Given the description of an element on the screen output the (x, y) to click on. 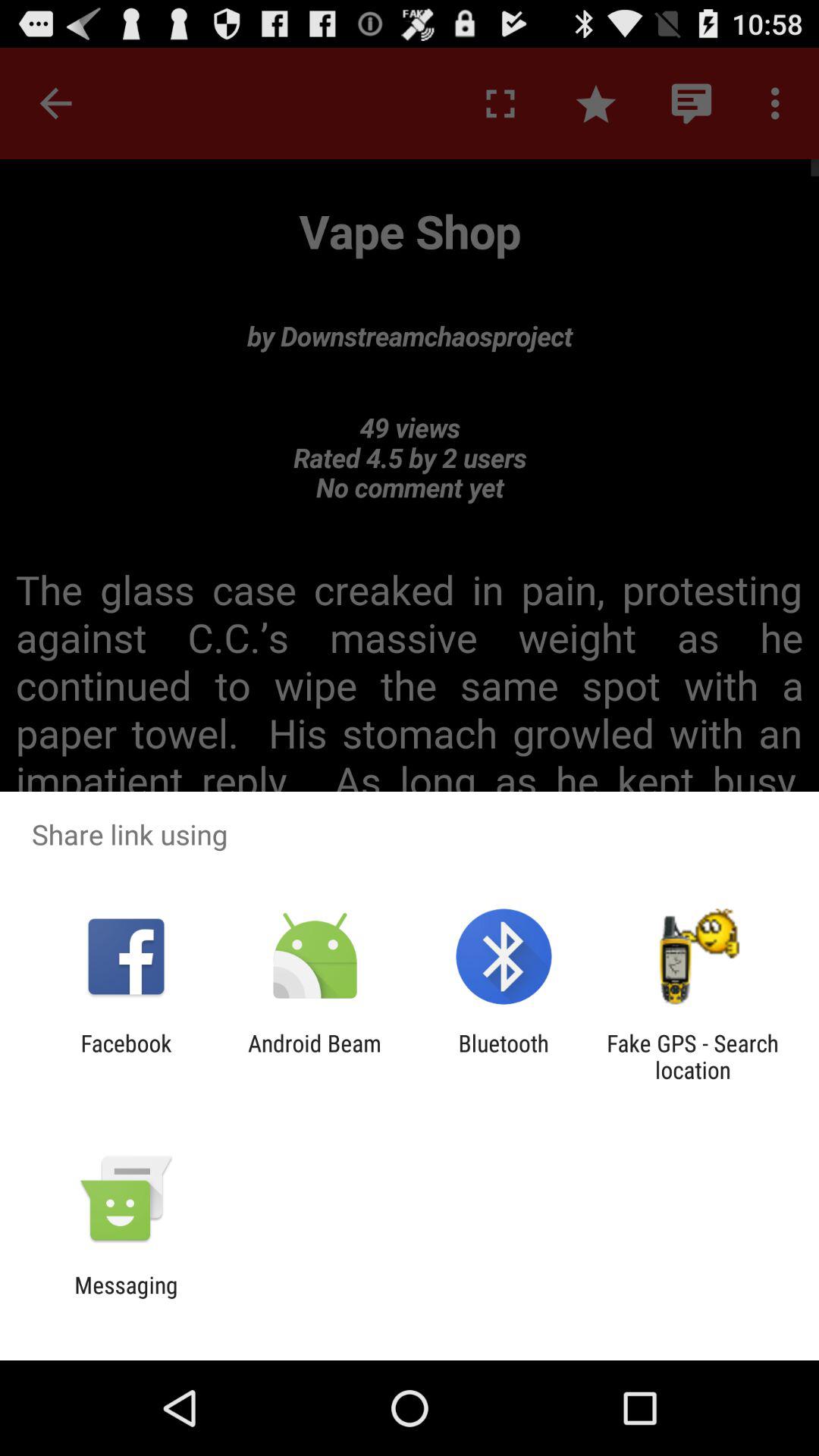
scroll to messaging icon (126, 1298)
